Given the description of an element on the screen output the (x, y) to click on. 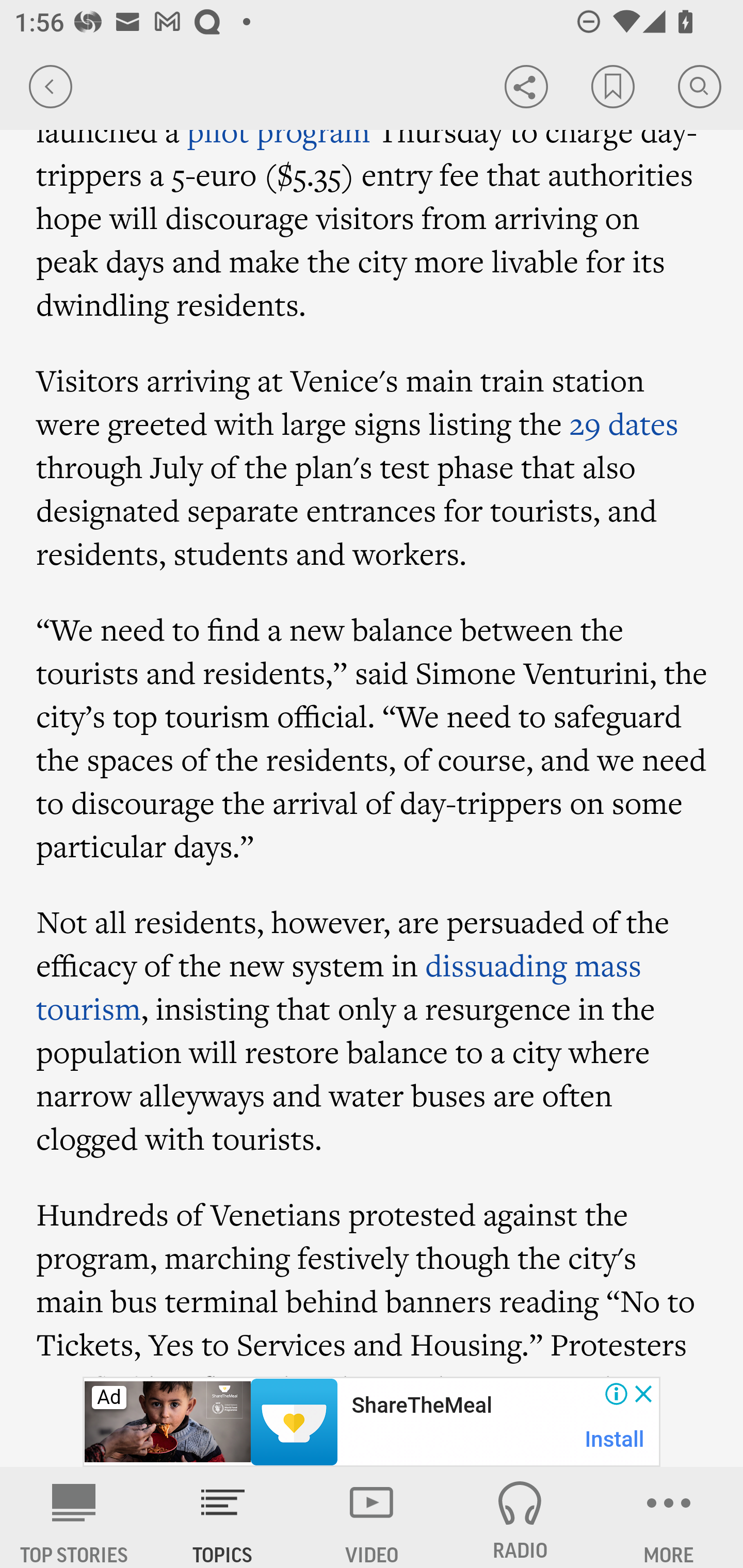
29 dates (623, 423)
dissuading mass tourism (339, 986)
ShareTheMeal (420, 1405)
Install (614, 1438)
AP News TOP STORIES (74, 1517)
TOPICS (222, 1517)
VIDEO (371, 1517)
RADIO (519, 1517)
MORE (668, 1517)
